Given the description of an element on the screen output the (x, y) to click on. 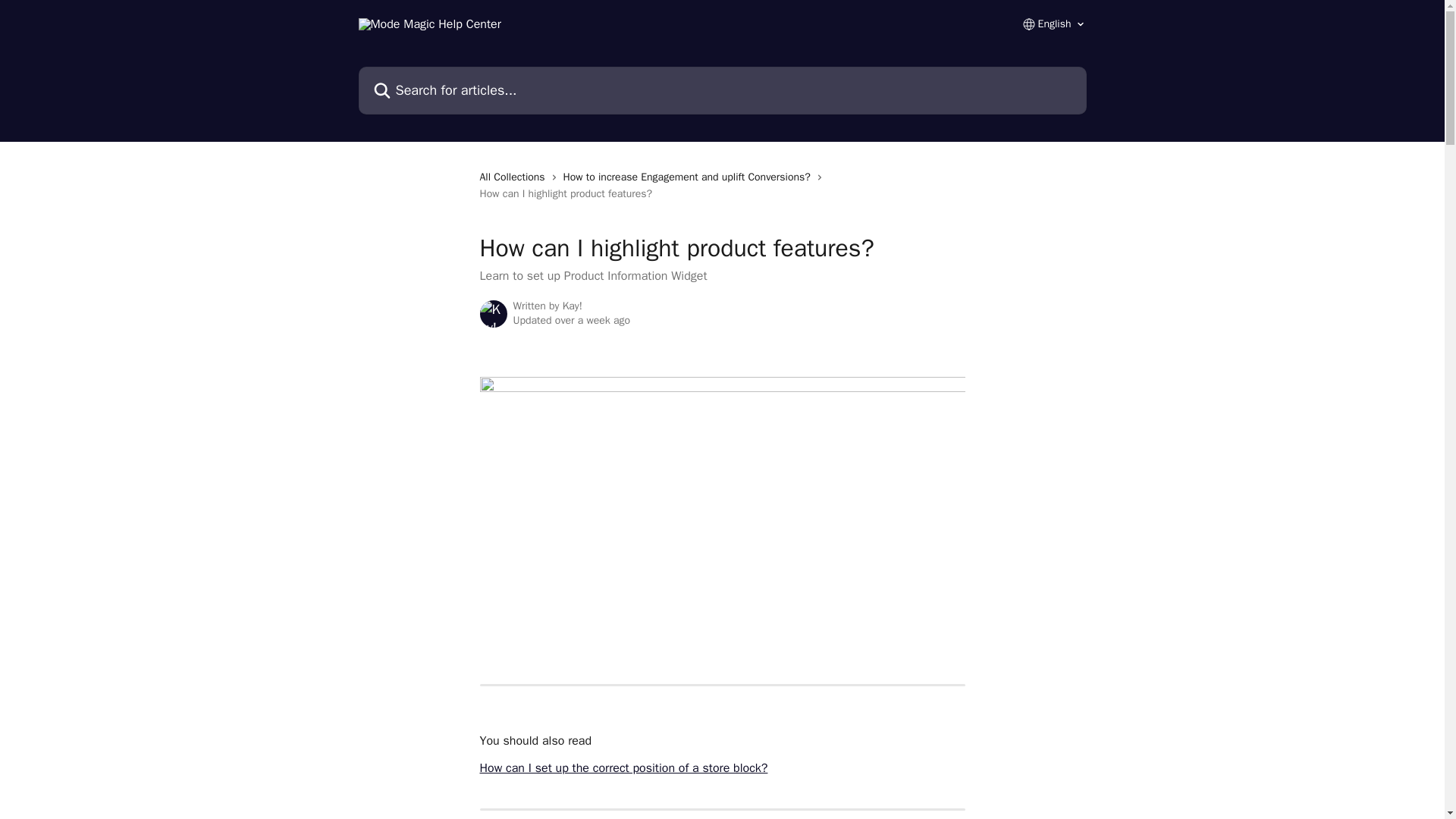
How can I set up the correct position of a store block? (623, 767)
All Collections (514, 176)
How to increase Engagement and uplift Conversions? (689, 176)
